Given the description of an element on the screen output the (x, y) to click on. 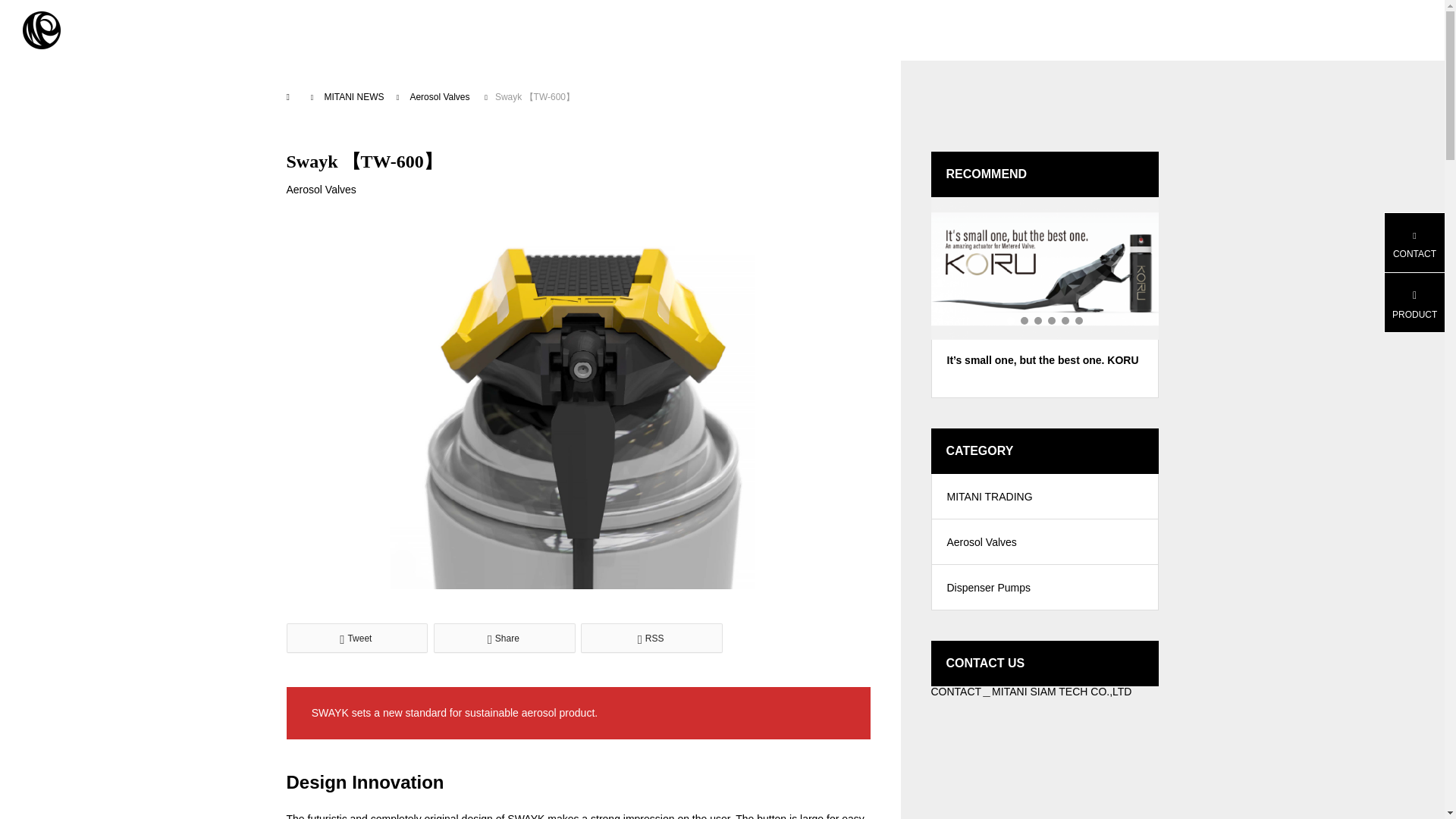
DISPENSER PUMPS (715, 30)
MITANI NEWS (353, 96)
Tweet (357, 637)
Aerosol Valves (321, 189)
AEROSOL VALVES (572, 30)
RSS (651, 637)
HOME (401, 30)
CONTACT US (936, 30)
ABOUT US (836, 30)
MITANI TRADING (41, 30)
